Given the description of an element on the screen output the (x, y) to click on. 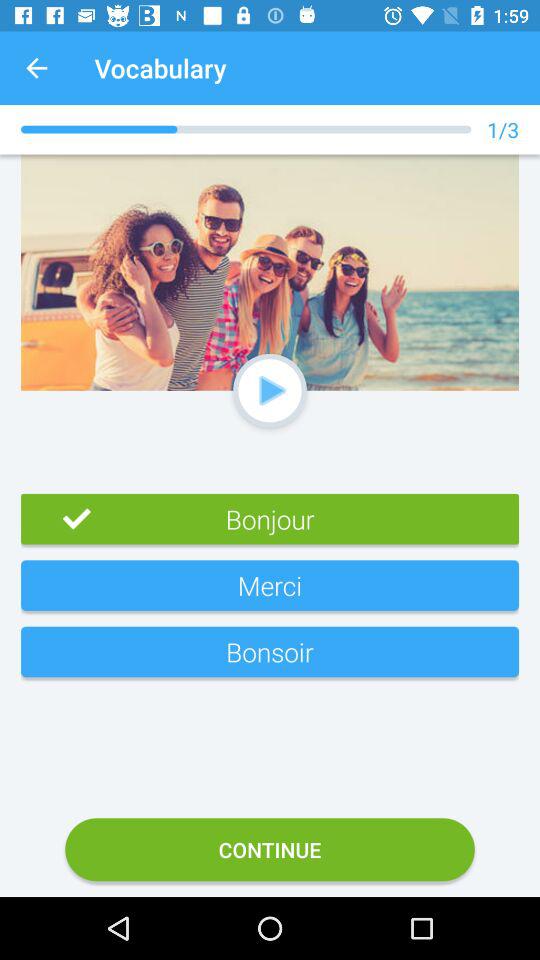
press the app to the left of vocabulary item (36, 68)
